Given the description of an element on the screen output the (x, y) to click on. 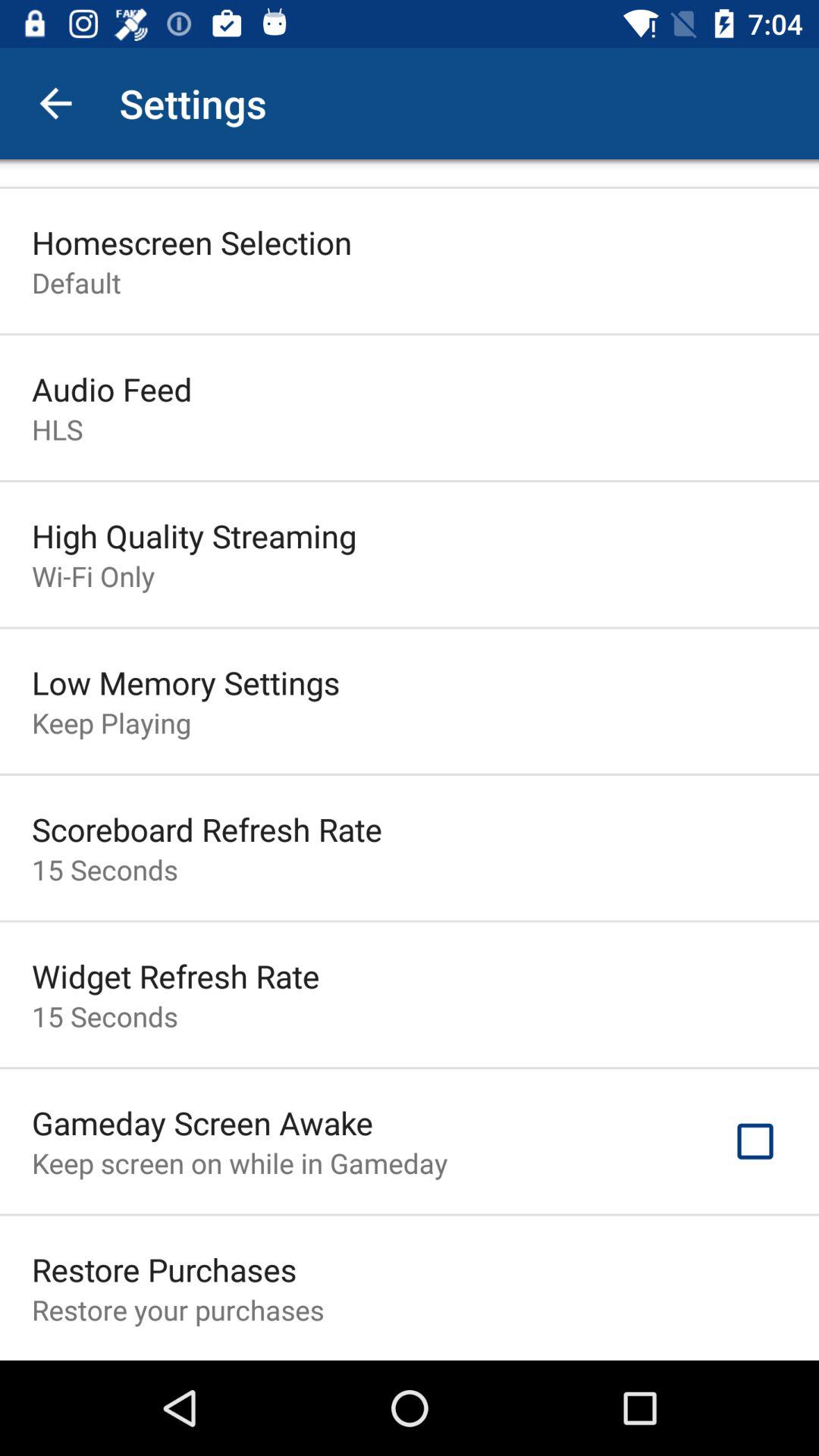
turn off icon above high quality streaming item (57, 429)
